Given the description of an element on the screen output the (x, y) to click on. 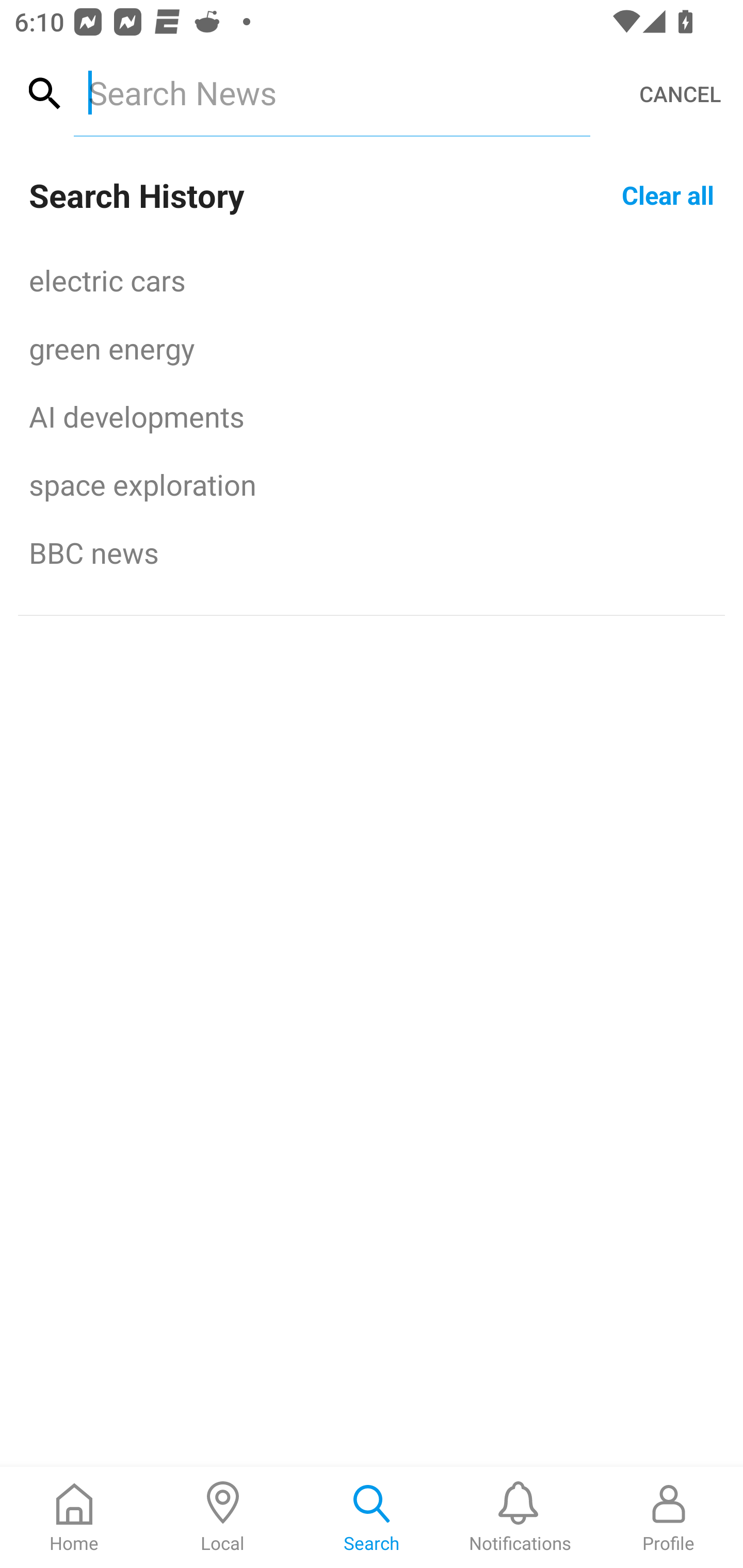
CANCEL (680, 93)
Search News (331, 92)
Clear all (667, 194)
electric cars (371, 279)
green energy (371, 347)
AI developments (371, 416)
space exploration (371, 484)
BBC news (371, 552)
Home (74, 1517)
Local (222, 1517)
Notifications (519, 1517)
Profile (668, 1517)
